Given the description of an element on the screen output the (x, y) to click on. 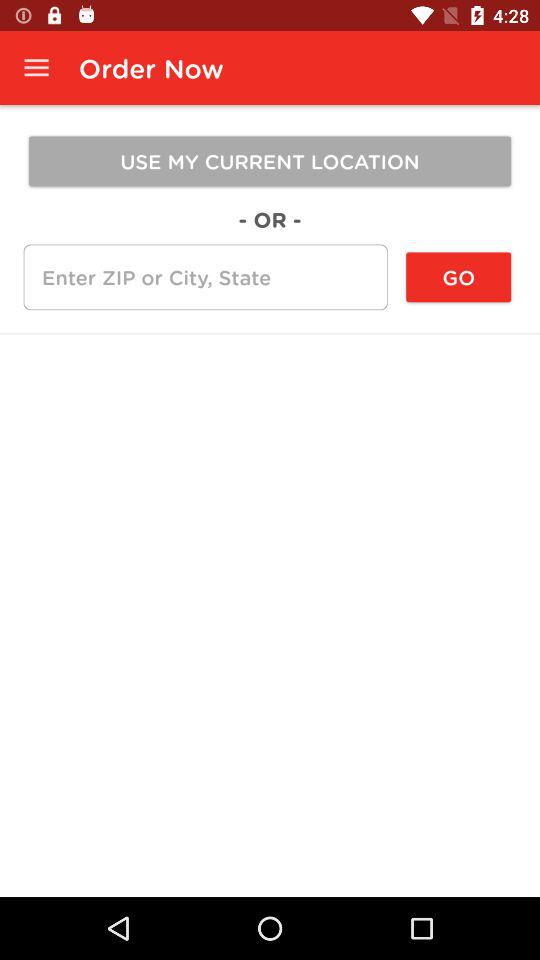
enter zip or city state (205, 277)
